Given the description of an element on the screen output the (x, y) to click on. 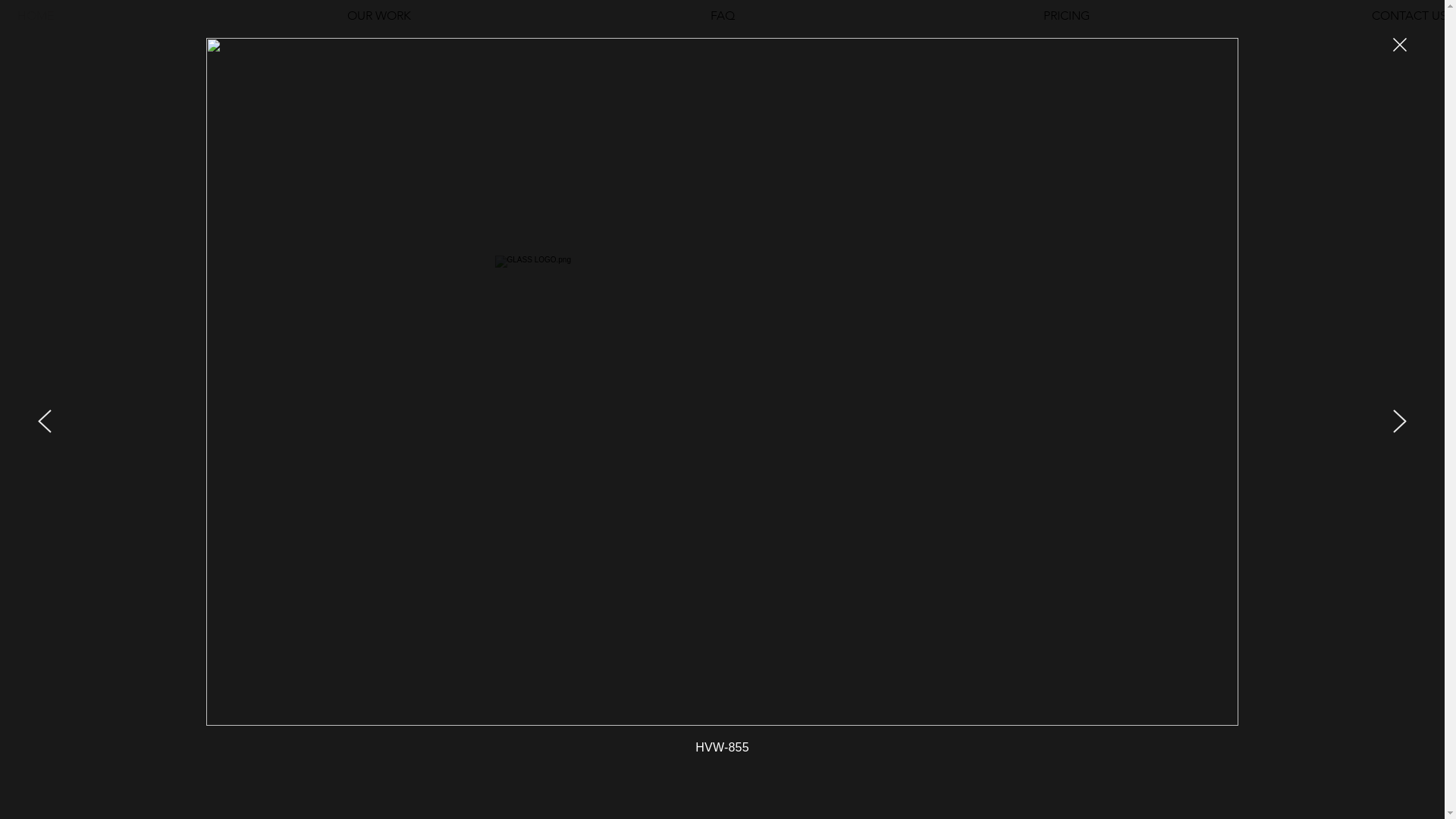
PRICING Element type: text (1066, 15)
FAQ Element type: text (722, 15)
OUR WORK Element type: text (379, 15)
